Given the description of an element on the screen output the (x, y) to click on. 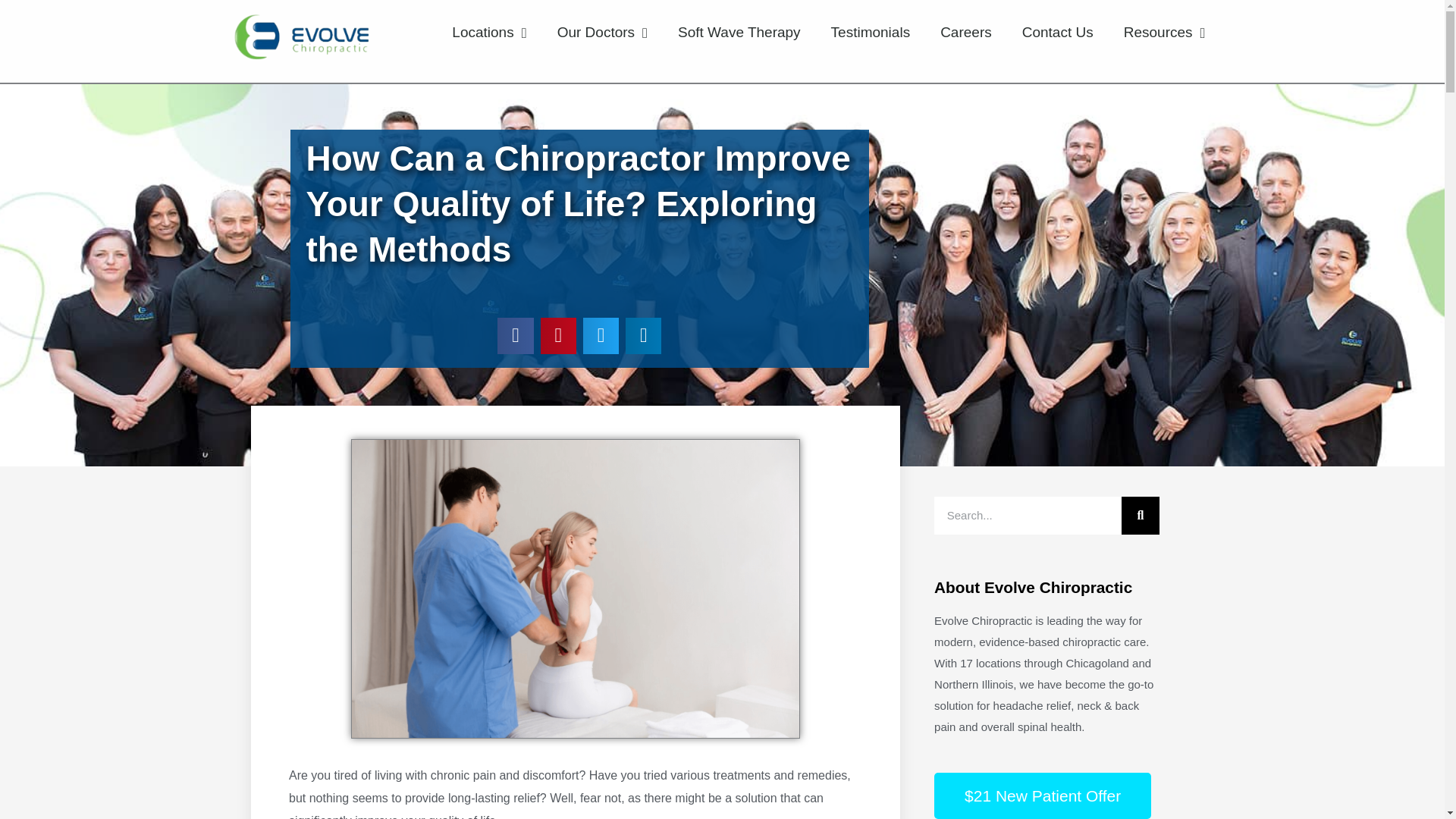
Our Doctors (601, 32)
Locations (488, 32)
